Given the description of an element on the screen output the (x, y) to click on. 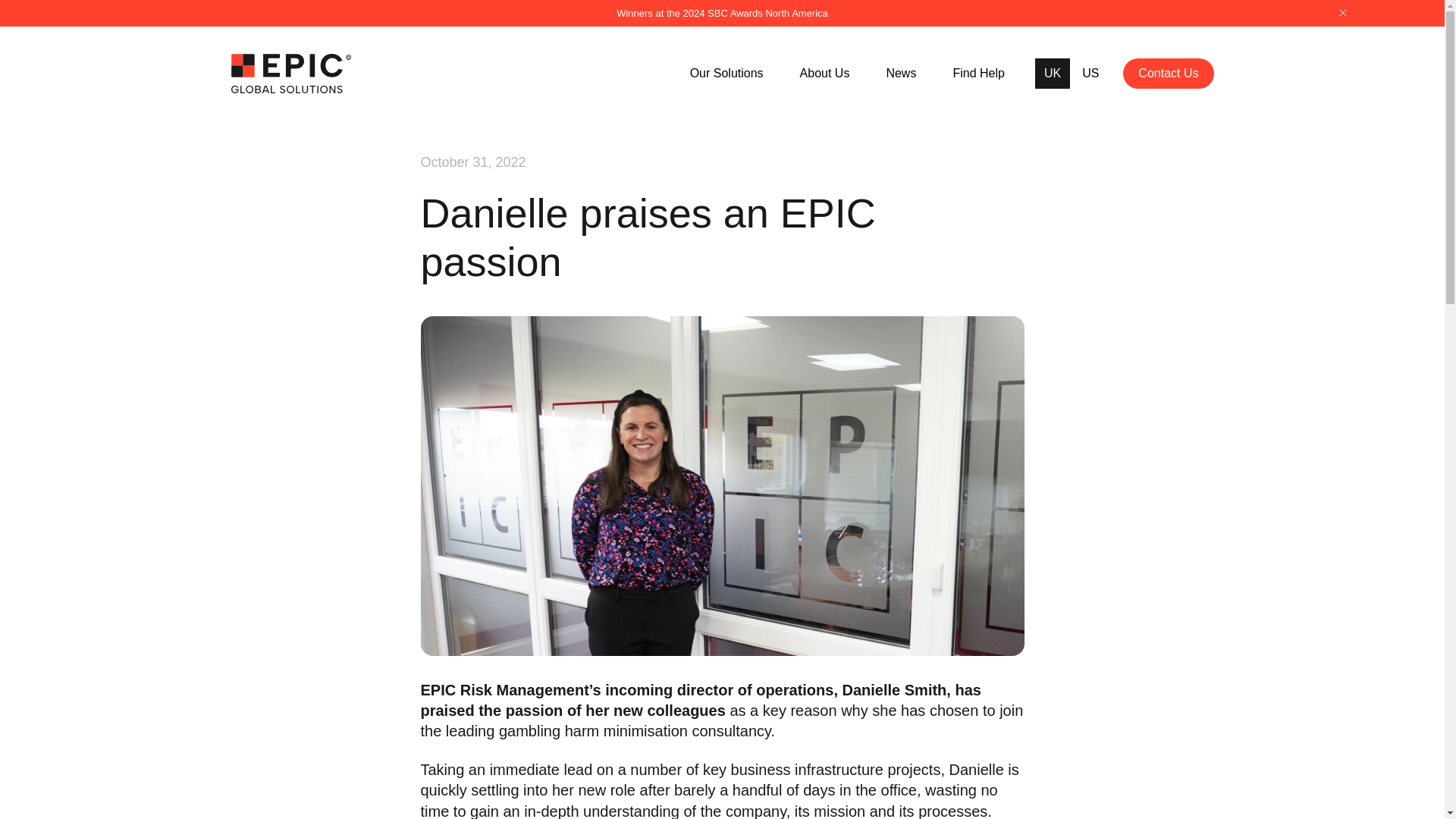
News (900, 73)
UK (1052, 73)
About Us (824, 73)
Contact Us (1167, 73)
Our Solutions (726, 73)
Find Help (978, 73)
US (1090, 73)
